Given the description of an element on the screen output the (x, y) to click on. 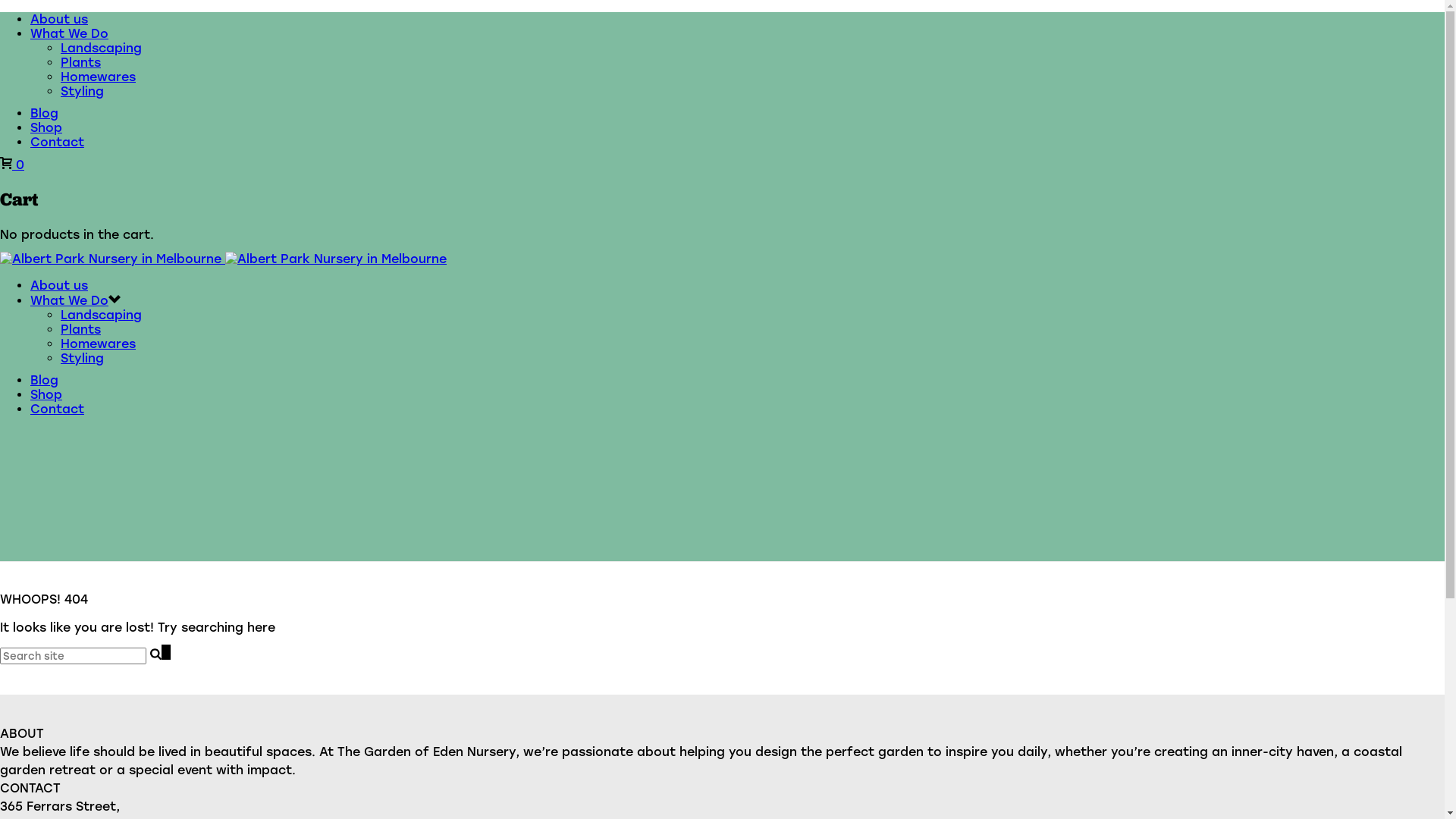
Contact Element type: text (57, 141)
Contact Element type: text (57, 408)
Landscaping Element type: text (100, 314)
Albert Park Nursery in Melbourne Element type: hover (335, 258)
Albert Park Nursery in Melbourne Element type: hover (110, 258)
Blog Element type: text (44, 113)
Homewares Element type: text (97, 76)
Styling Element type: text (81, 358)
Plants Element type: text (80, 329)
Shop Element type: text (46, 127)
Plants Element type: text (80, 62)
About us Element type: text (58, 19)
About us Element type: text (58, 285)
Landscaping Element type: text (100, 47)
Styling Element type: text (81, 91)
Shop Element type: text (46, 394)
Blog Element type: text (44, 380)
0 Element type: text (12, 164)
The Garden of Eden Nursery Element type: hover (223, 258)
What We Do Element type: text (69, 300)
What We Do Element type: text (69, 33)
Homewares Element type: text (97, 343)
